Given the description of an element on the screen output the (x, y) to click on. 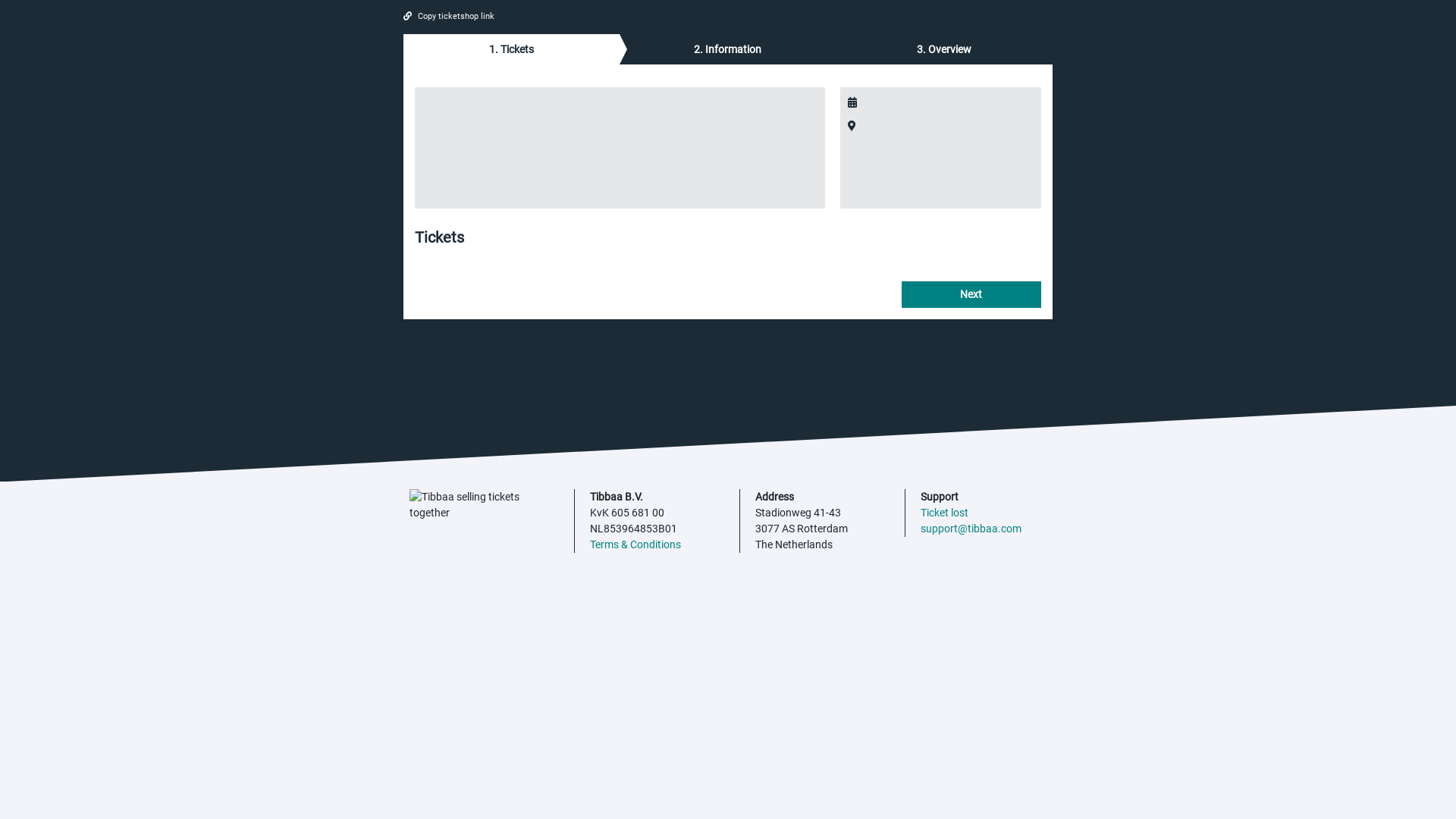
2. Information Element type: text (727, 48)
Ticket lost Element type: text (944, 512)
Next Element type: text (971, 293)
support@tibbaa.com Element type: text (970, 527)
Terms & Conditions Element type: text (634, 544)
1. Tickets Element type: text (511, 48)
3. Overview Element type: text (944, 48)
